Given the description of an element on the screen output the (x, y) to click on. 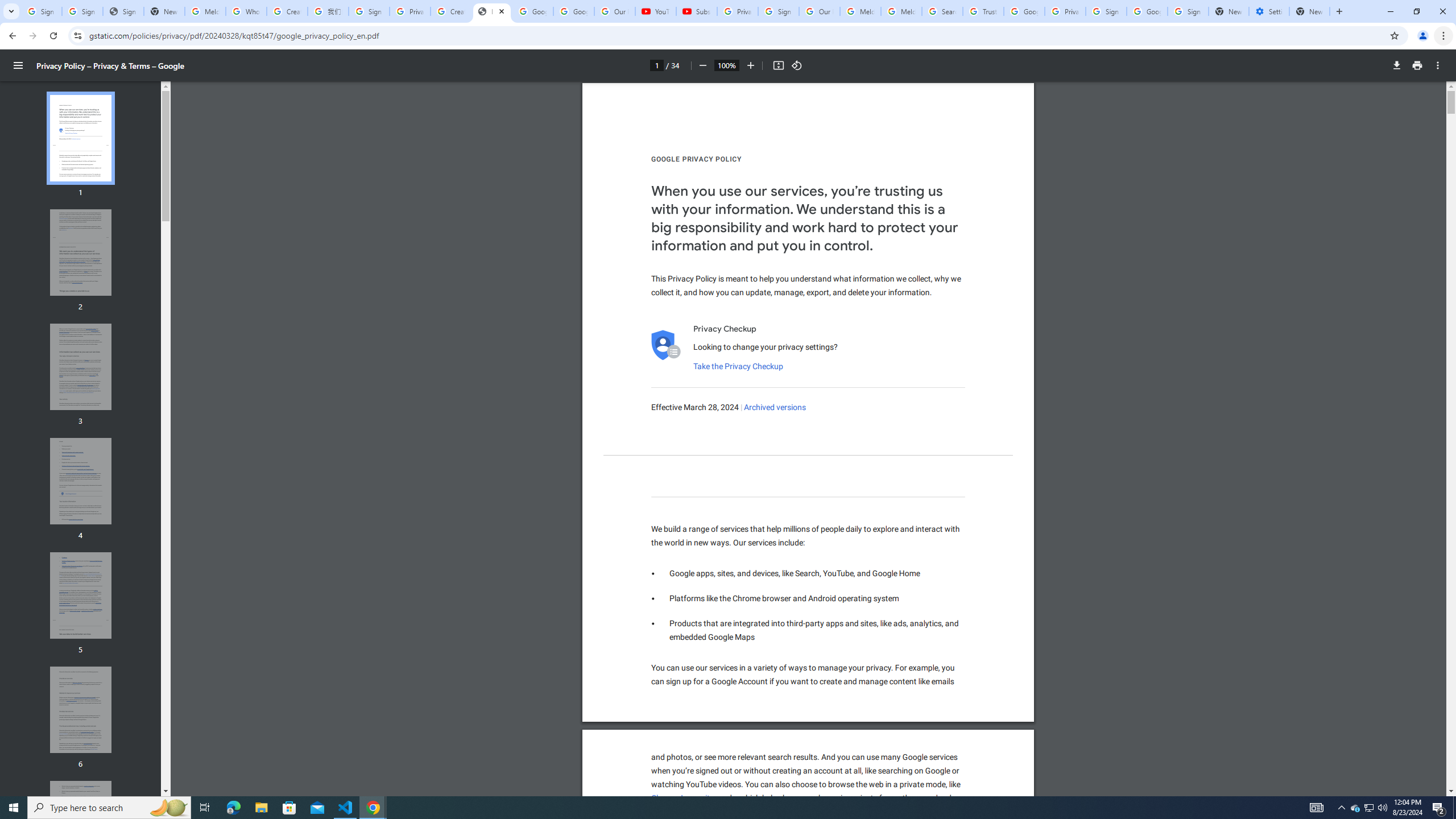
Search our Doodle Library Collection - Google Doodles (942, 11)
Print (1416, 65)
Thumbnail for page 3 (80, 366)
Thumbnail for page 2 (80, 252)
Sign in - Google Accounts (777, 11)
Thumbnail for page 5 (80, 595)
Sign in - Google Accounts (81, 11)
Settings - Addresses and more (1268, 11)
Archived versions (775, 406)
New Tab (1309, 11)
